Given the description of an element on the screen output the (x, y) to click on. 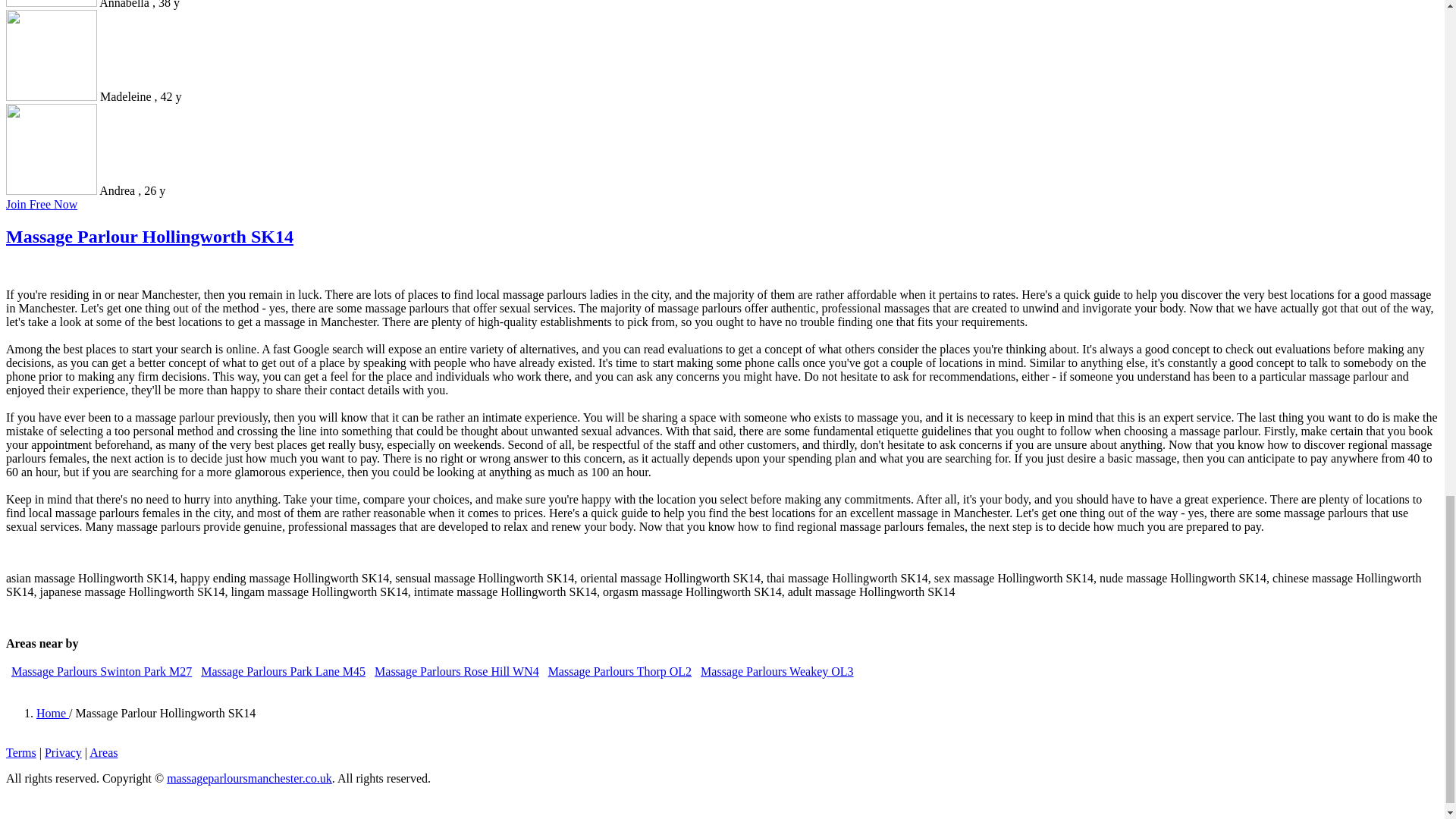
Massage Parlour Hollingworth SK14 (149, 236)
Massage Parlours Swinton Park M27 (101, 671)
Join (41, 204)
massageparloursmanchester.co.uk (249, 778)
Privacy (63, 752)
Massage Parlours Weakey OL3 (776, 671)
Privacy (63, 752)
massageparloursmanchester.co.uk (249, 778)
Massage Parlours Rose Hill WN4 (456, 671)
Terms (20, 752)
Areas (102, 752)
Massage Parlours Thorp OL2 (619, 671)
Terms (20, 752)
Join Free Now (41, 204)
Areas (102, 752)
